Given the description of an element on the screen output the (x, y) to click on. 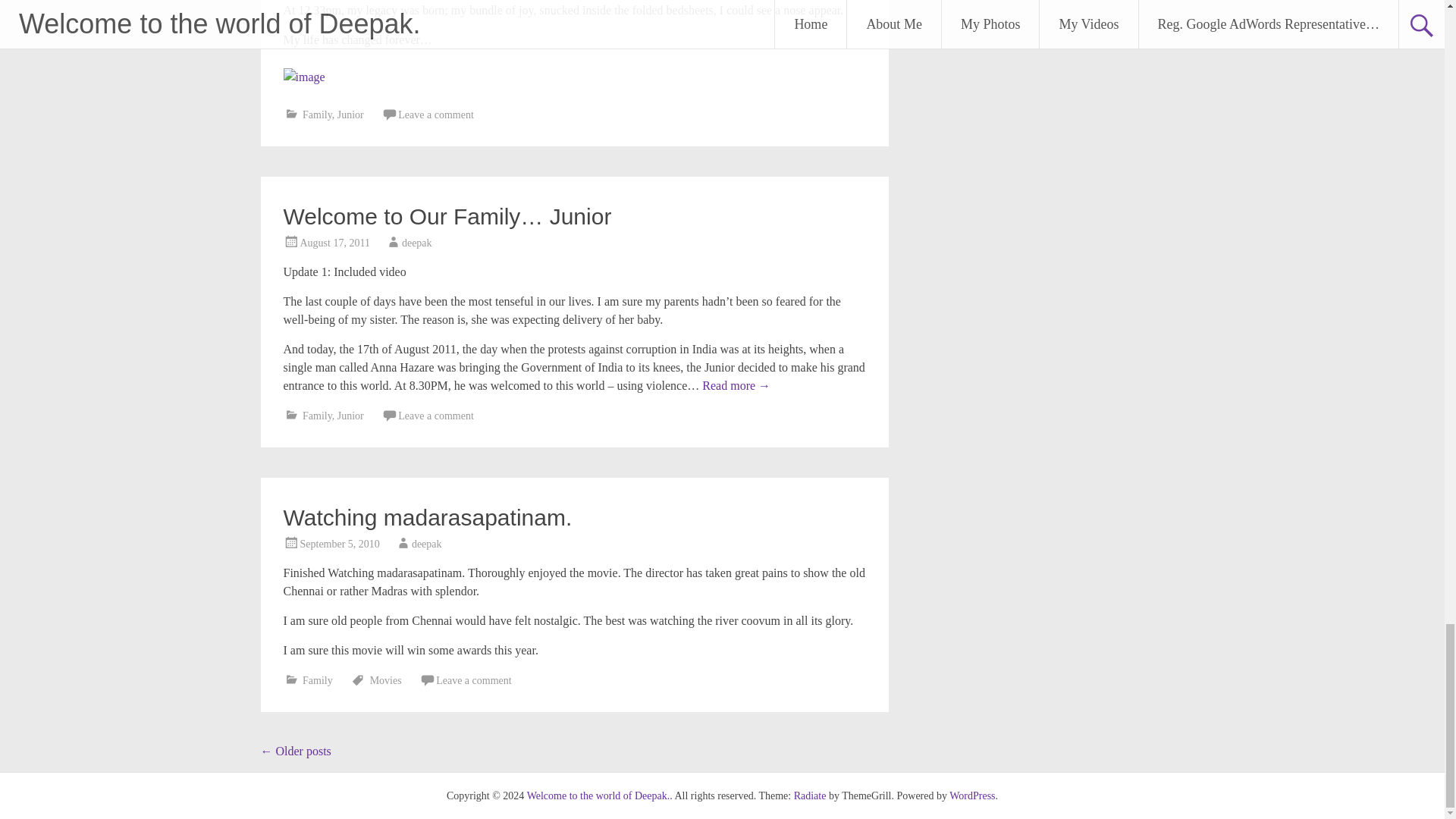
Watching madarasapatinam. (427, 517)
Junior (350, 114)
Junior (350, 415)
Welcome to the world of Deepak. (598, 795)
August 17, 2011 (334, 242)
September 5, 2010 (339, 543)
Family (316, 415)
Radiate (810, 795)
WordPress (971, 795)
Leave a comment (435, 415)
